Given the description of an element on the screen output the (x, y) to click on. 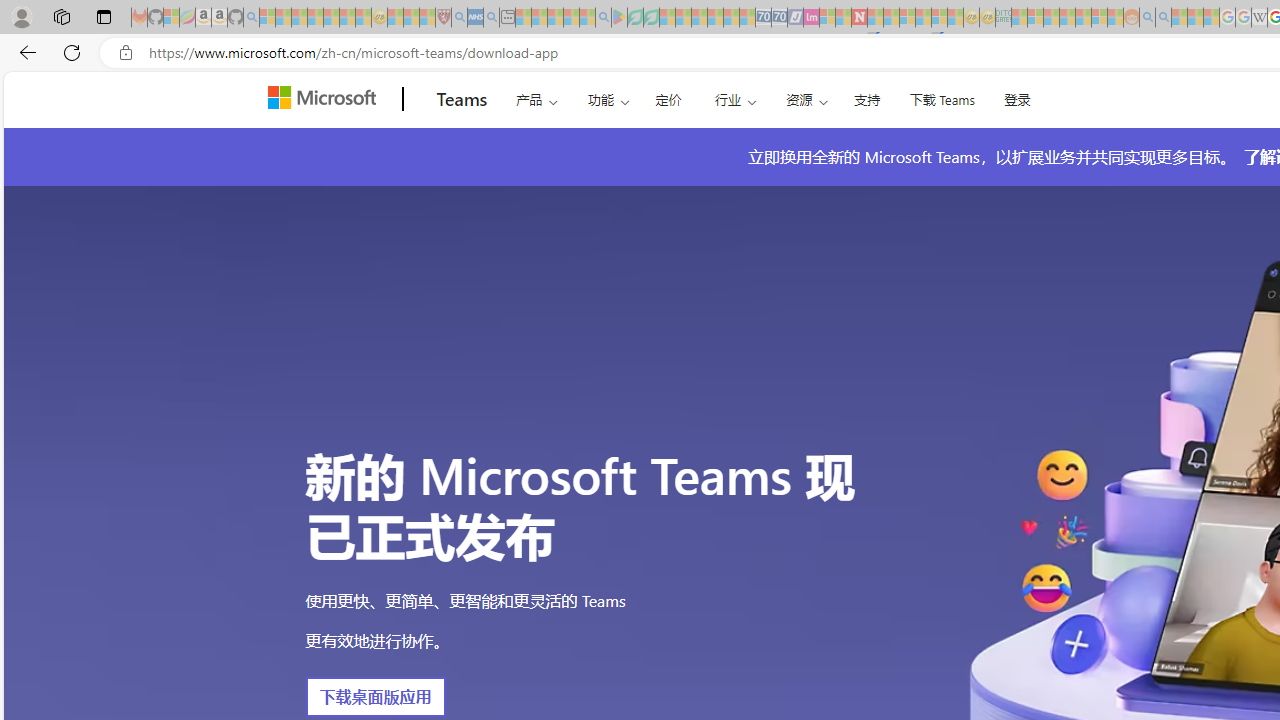
Bluey: Let's Play! - Apps on Google Play - Sleeping (619, 17)
DITOGAMES AG Imprint - Sleeping (1003, 17)
